Given the description of an element on the screen output the (x, y) to click on. 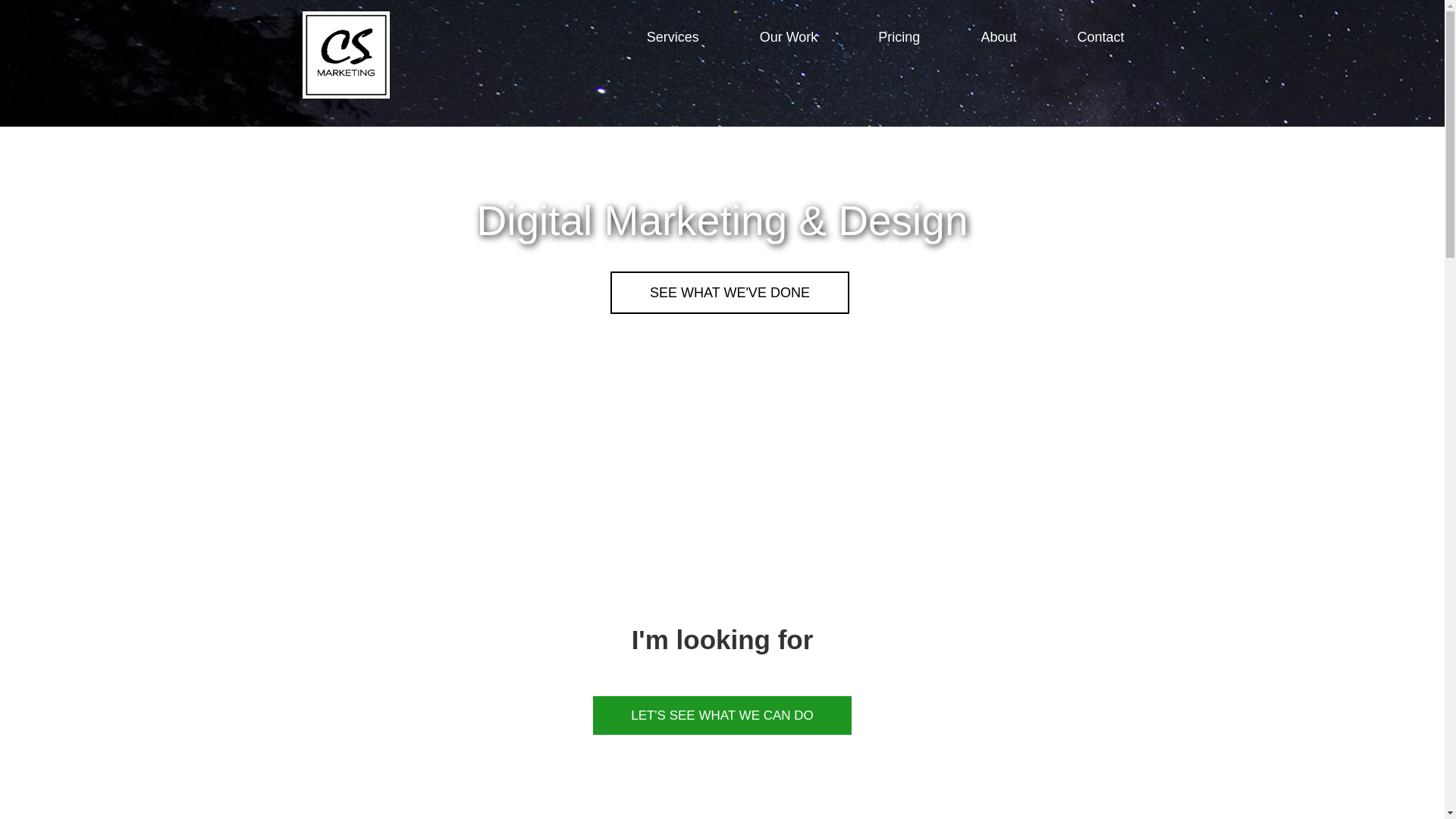
Contact (1100, 36)
Our Work (788, 36)
LET'S SEE WHAT WE CAN DO (721, 715)
About (998, 36)
Pricing (899, 36)
SEE WHAT WE'VE DONE (729, 292)
Services (673, 36)
